Given the description of an element on the screen output the (x, y) to click on. 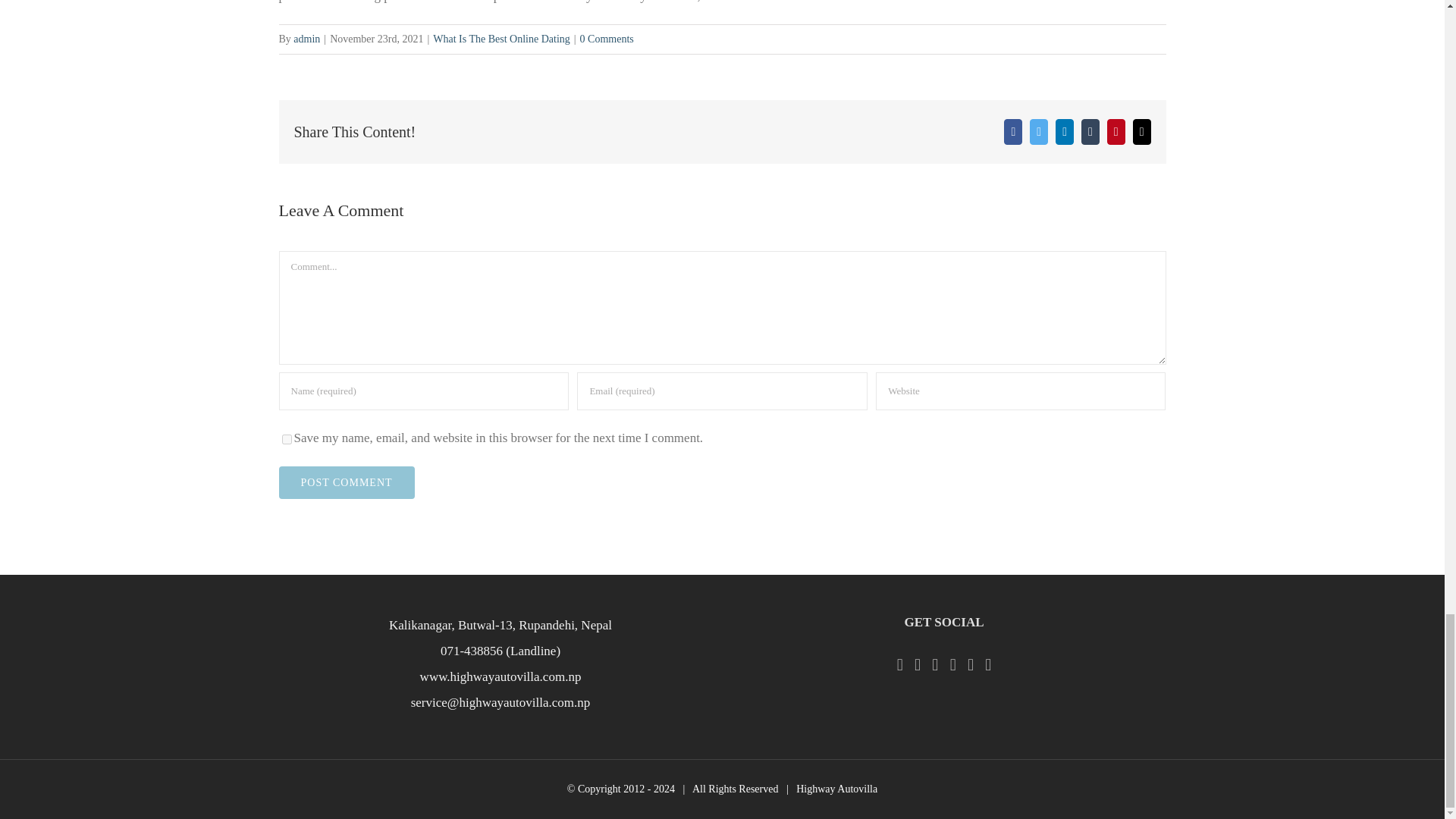
Posts by admin (307, 39)
0 Comments (606, 39)
admin (307, 39)
yes (287, 439)
Post Comment (346, 482)
Post Comment (346, 482)
What Is The Best Online Dating (501, 39)
